Given the description of an element on the screen output the (x, y) to click on. 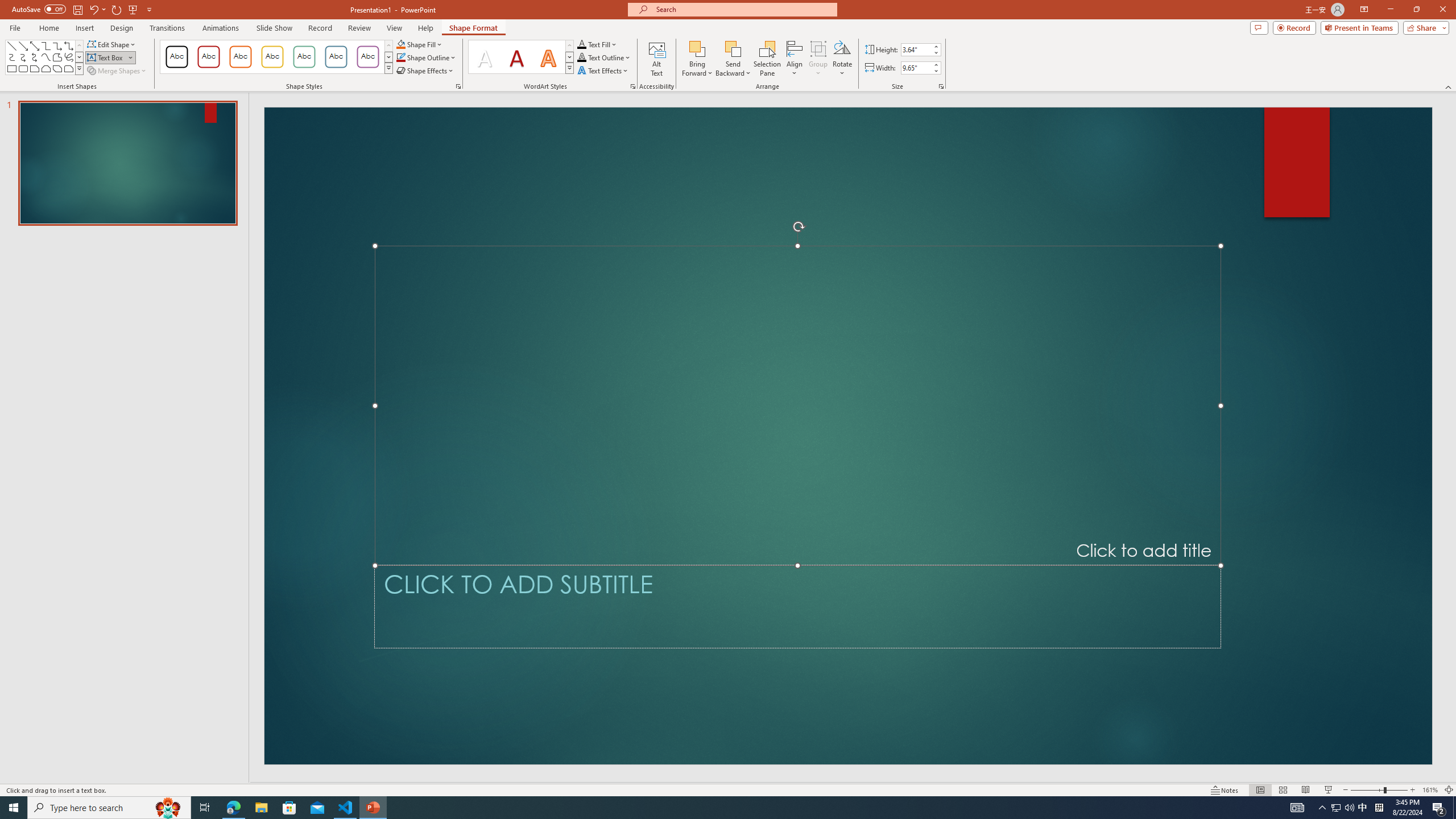
Connector: Elbow Double-Arrow (68, 45)
Colored Outline - Green, Accent 4 (304, 56)
Shape Width (915, 67)
Connector: Curved Arrow (23, 57)
Text Fill RGB(0, 0, 0) (581, 44)
Merge Shapes (117, 69)
